Given the description of an element on the screen output the (x, y) to click on. 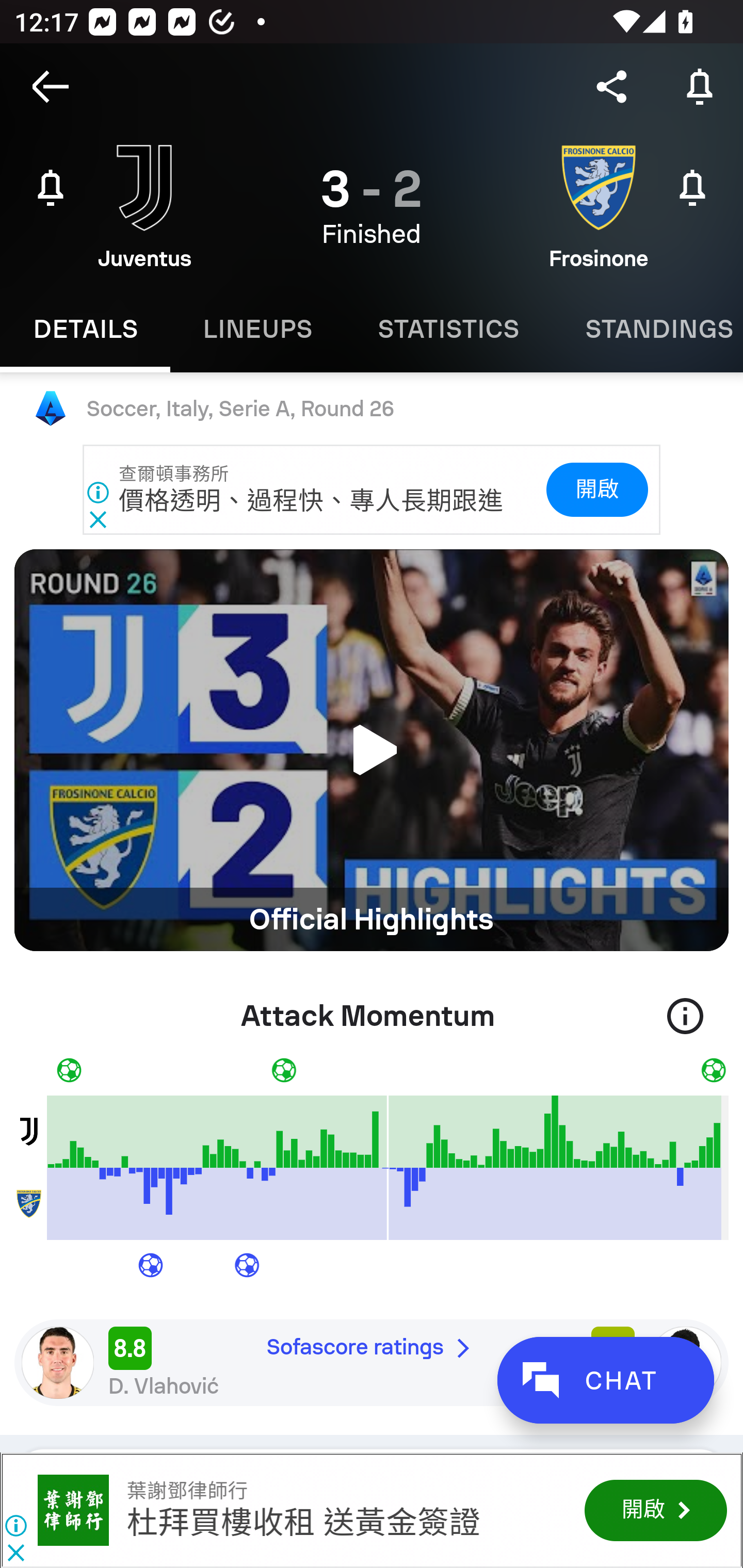
Navigate up (50, 86)
Lineups LINEUPS (257, 329)
Statistics STATISTICS (448, 329)
Standings STANDINGS (647, 329)
Soccer, Italy, Serie A, Round 26 (371, 409)
查爾頓事務所 (174, 474)
開啟 (596, 489)
價格透明、過程快、專人長期跟進 (311, 500)
8.8 Sofascore ratings 7.5 D. Vlahović A. Harroui (371, 1362)
CHAT (605, 1380)
葉謝鄧律師行 (73, 1510)
葉謝鄧律師行 (186, 1491)
開啟 (655, 1509)
杜拜買樓收租 送黃金簽證 (302, 1522)
